Given the description of an element on the screen output the (x, y) to click on. 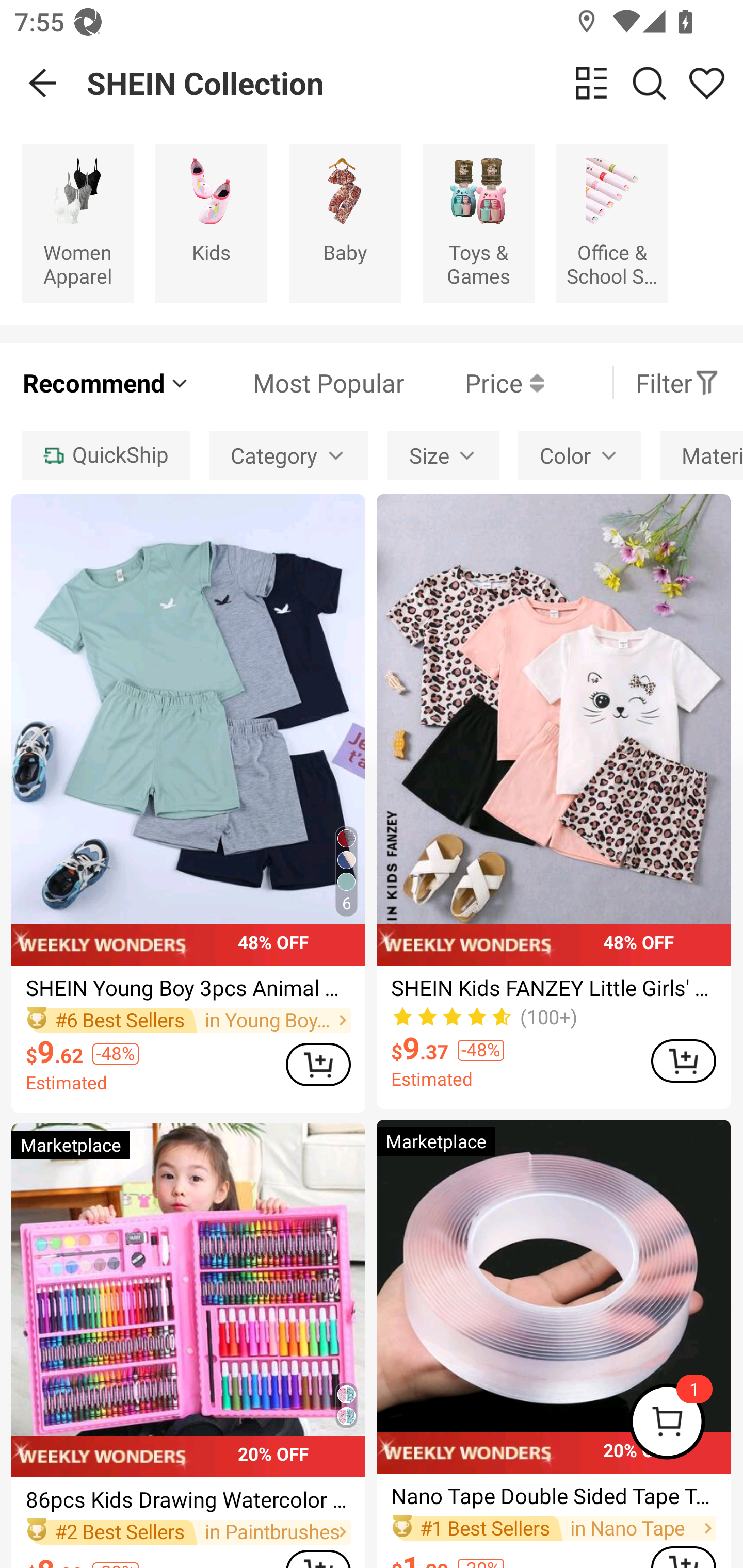
SHEIN Collection change view Search Share (414, 82)
change view (591, 82)
Search (648, 82)
Share (706, 82)
Women Apparel (77, 223)
Kids (211, 223)
Baby (345, 223)
Toys & Games (478, 223)
Office & School Supplies (611, 223)
Recommend (106, 382)
Most Popular (297, 382)
Price (474, 382)
Filter (677, 382)
QuickShip (105, 455)
Category (288, 455)
Size (443, 455)
Color (579, 455)
Material (701, 455)
#6 Best Sellers in Young Boys Sets (188, 1019)
ADD TO CART (683, 1060)
ADD TO CART (318, 1064)
#1 Best Sellers in Nano Tape (553, 1527)
#2 Best Sellers in Paintbrushes (188, 1531)
